Given the description of an element on the screen output the (x, y) to click on. 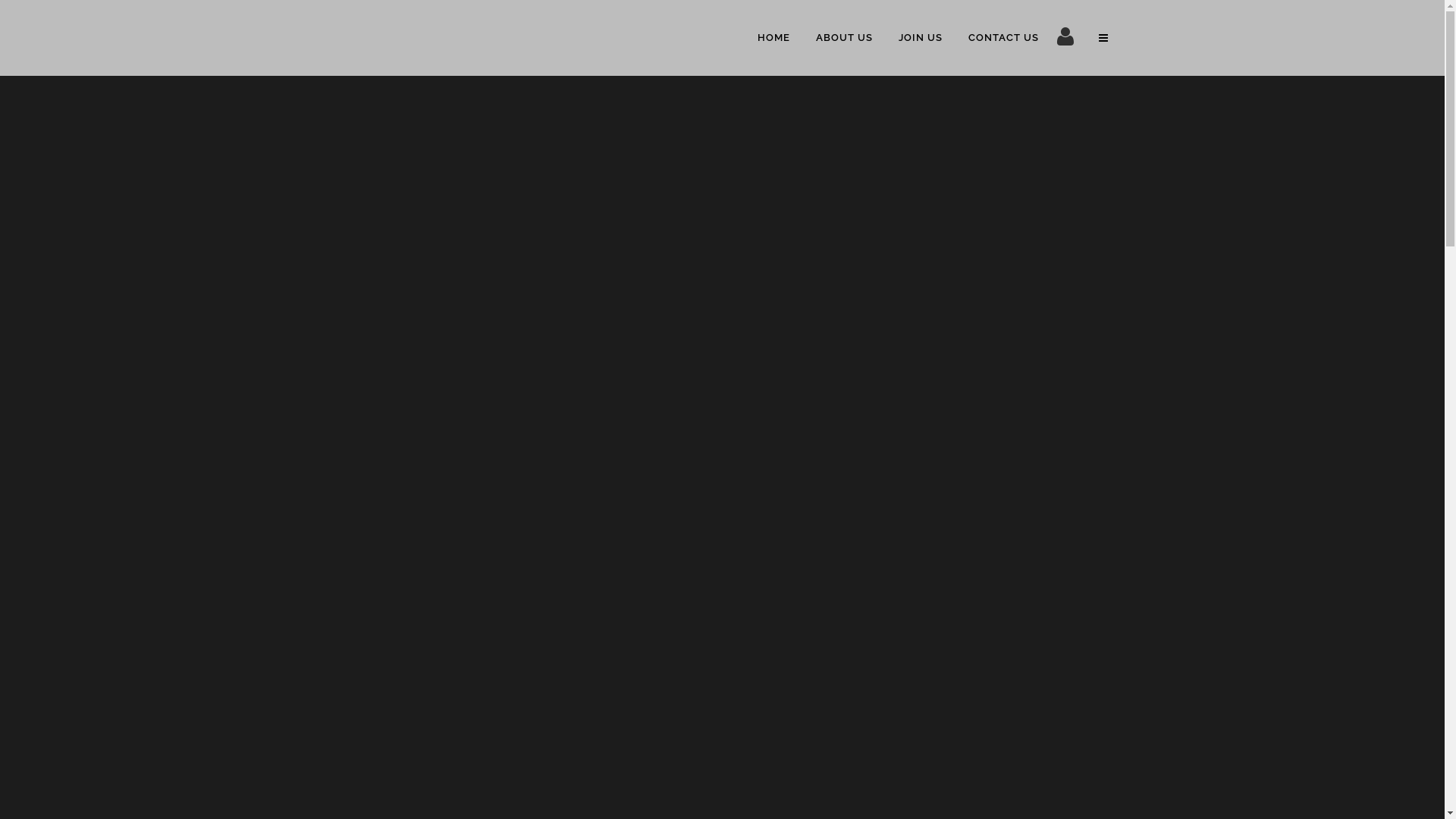
HOME Element type: text (773, 37)
CONTACT US Element type: text (1003, 37)
ABOUT US Element type: text (843, 37)
JOIN US Element type: text (920, 37)
